Given the description of an element on the screen output the (x, y) to click on. 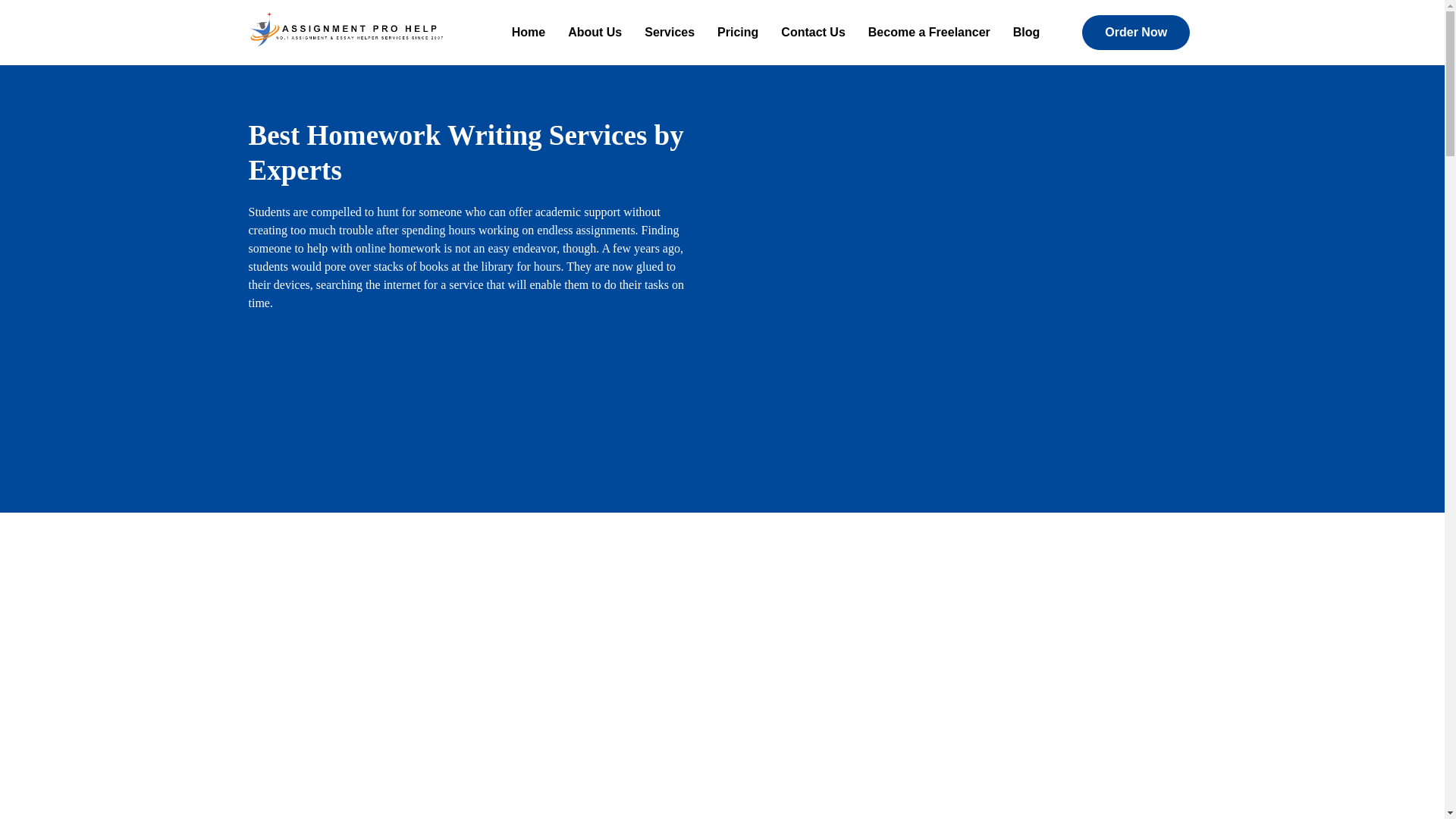
Pricing (738, 32)
Contact Us (813, 32)
Become a Freelancer (929, 32)
About Us (594, 32)
Blog (1026, 32)
Home (528, 32)
Order Now (1135, 32)
Services (669, 32)
